Given the description of an element on the screen output the (x, y) to click on. 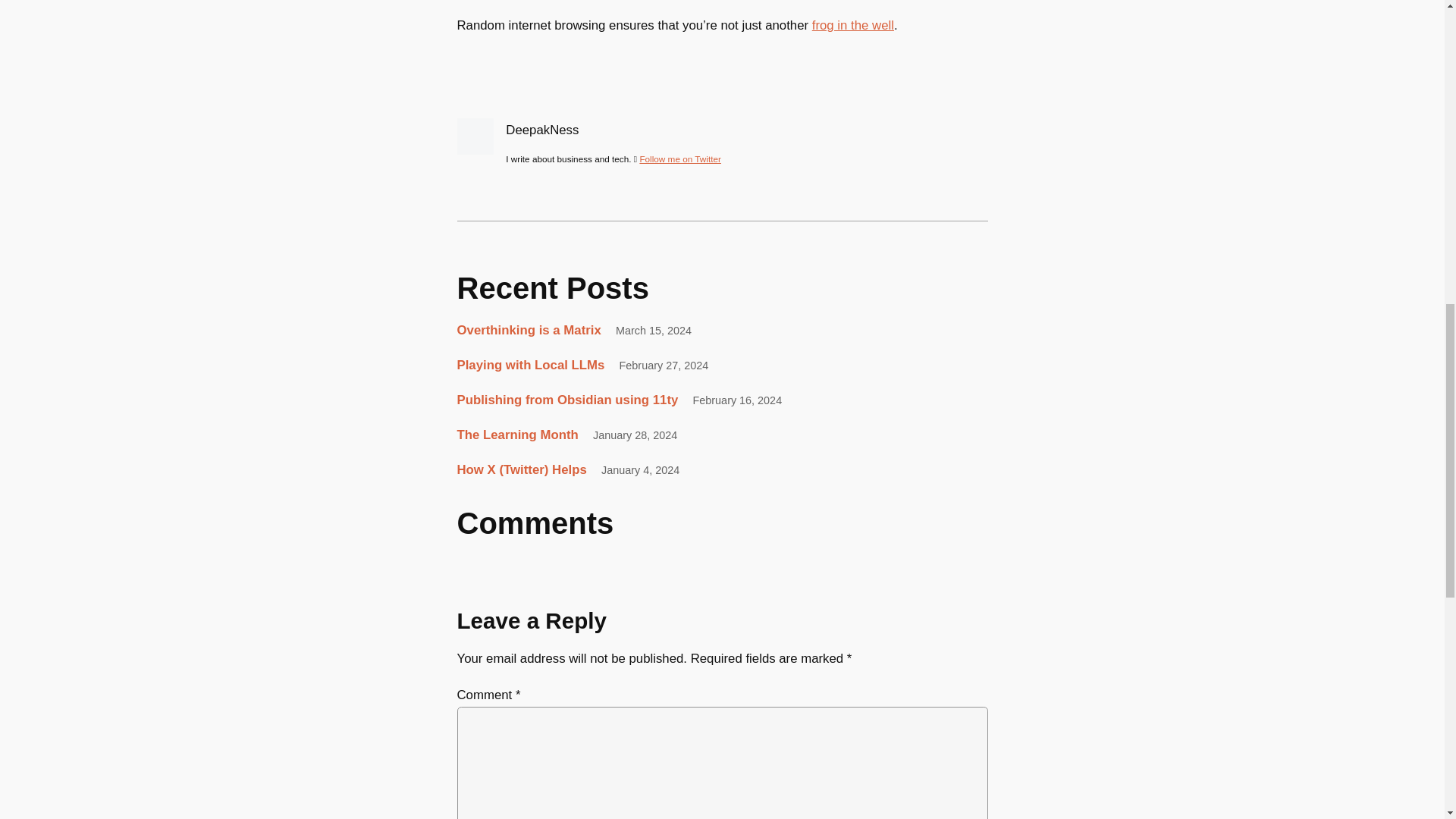
Publishing from Obsidian using 11ty (567, 400)
The Learning Month (517, 435)
Follow me on Twitter (679, 158)
frog in the well (852, 25)
Overthinking is a Matrix (528, 330)
Playing with Local LLMs (530, 365)
